Given the description of an element on the screen output the (x, y) to click on. 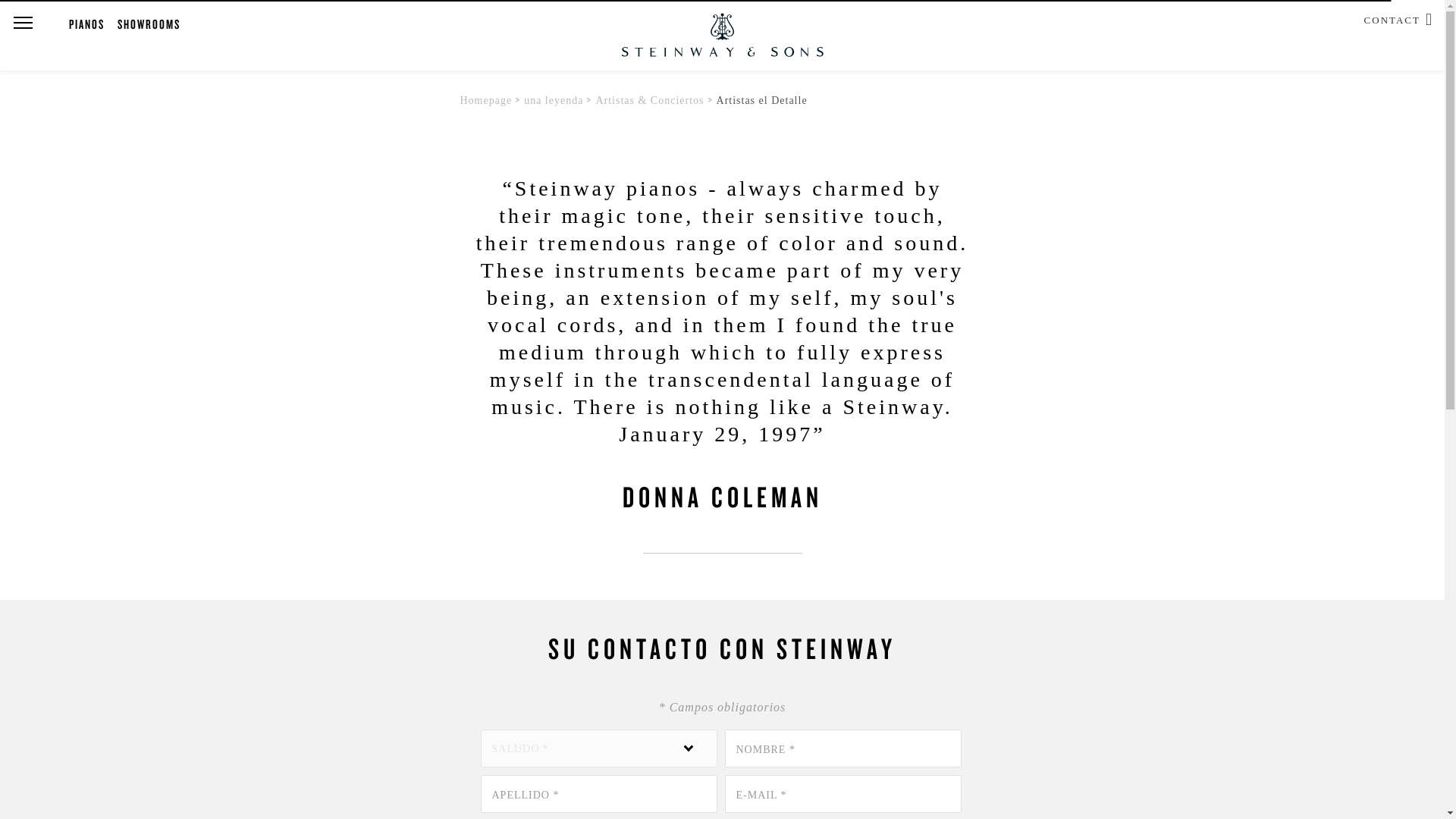
Artistas el Detalle (761, 100)
Homepage (486, 100)
una leyenda (553, 100)
SHOWROOMS (148, 23)
PIANOS (86, 23)
CONTACT (1392, 18)
